Given the description of an element on the screen output the (x, y) to click on. 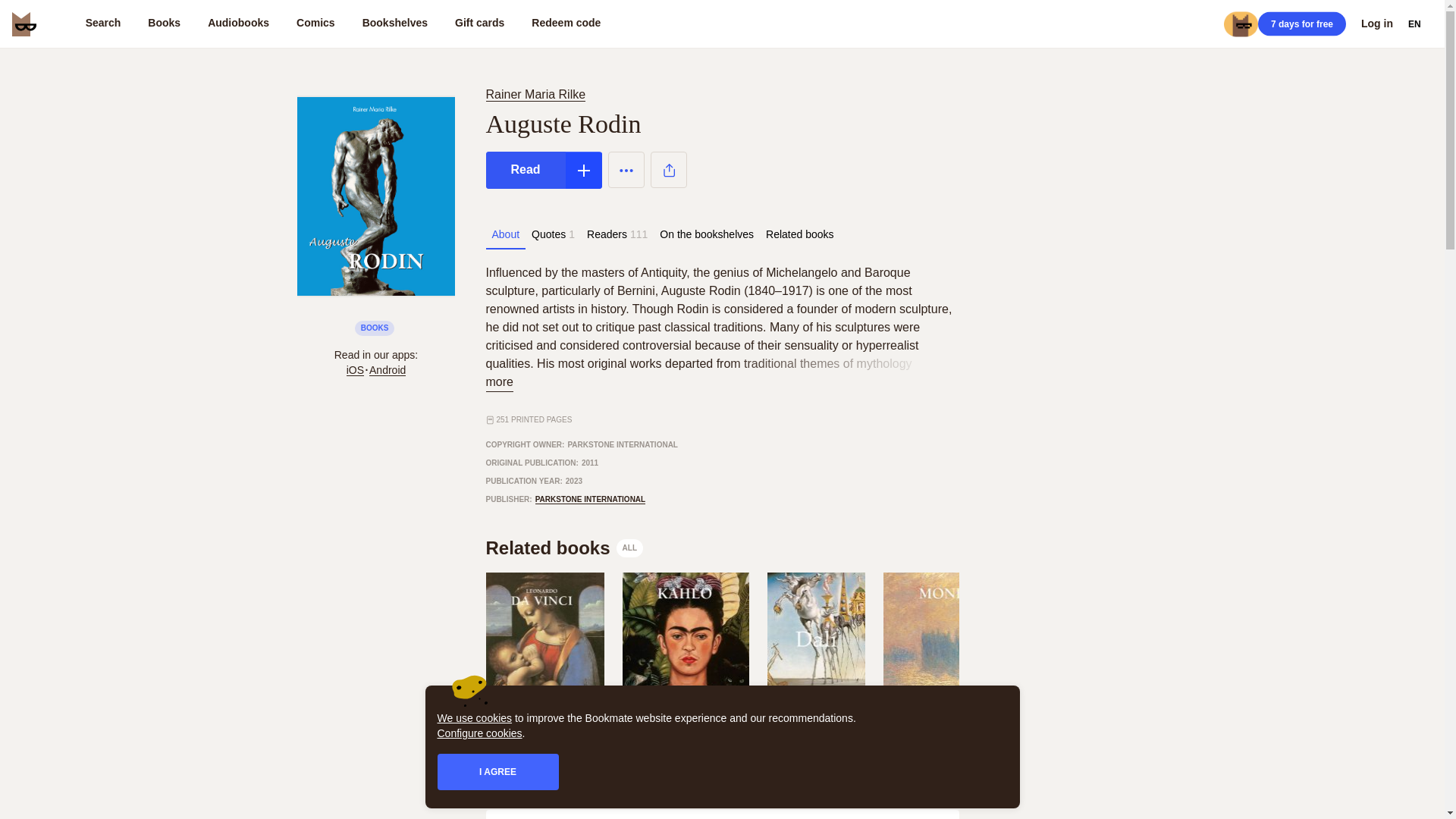
Related books (800, 234)
Rainer Maria Rilke (534, 94)
Nathalia Brodskaya (944, 718)
Read (524, 169)
Gift cards (479, 24)
Audiobooks (237, 24)
Victoria Charles (805, 719)
Redeem code (565, 24)
Victoria Charles (815, 718)
Kahlo (684, 733)
PARKSTONE INTERNATIONAL (590, 499)
7 days for free (1301, 23)
Klimt (1090, 733)
Quotes1 (552, 234)
Gerry Souter (651, 719)
